Given the description of an element on the screen output the (x, y) to click on. 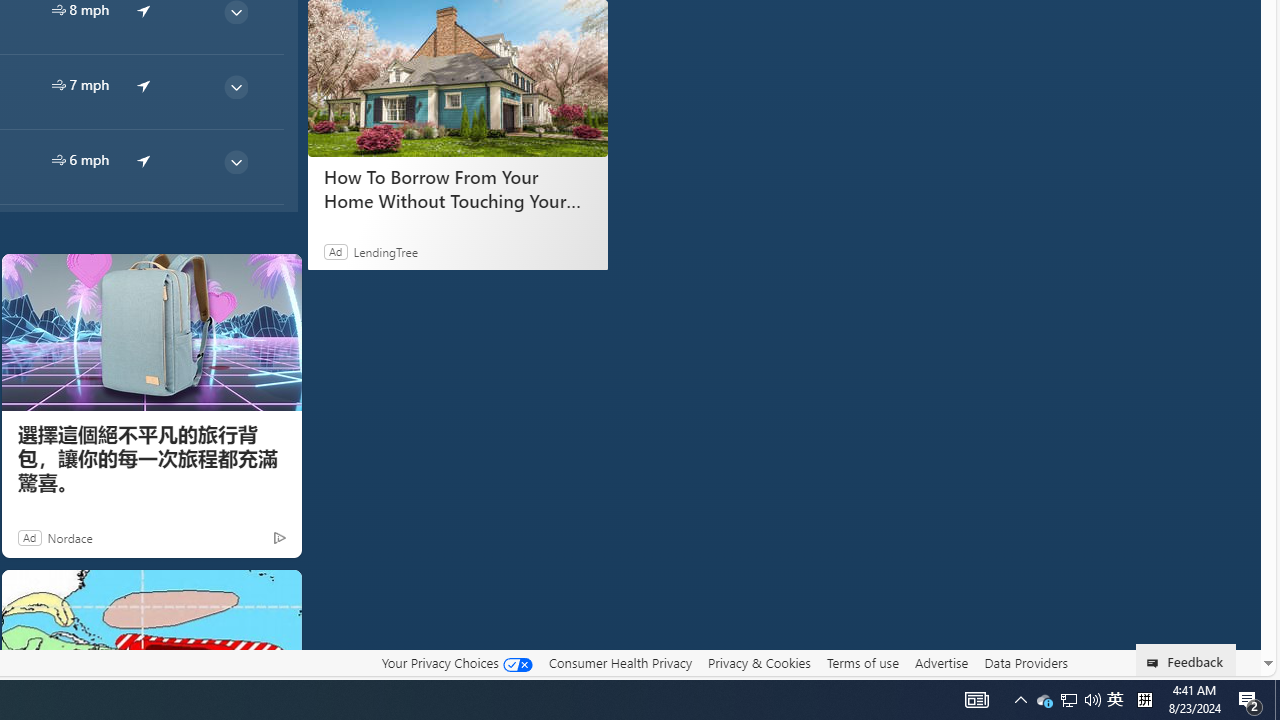
common/arrow (144, 159)
Class: feedback_link_icon-DS-EntryPoint1-1 (1156, 663)
